Given the description of an element on the screen output the (x, y) to click on. 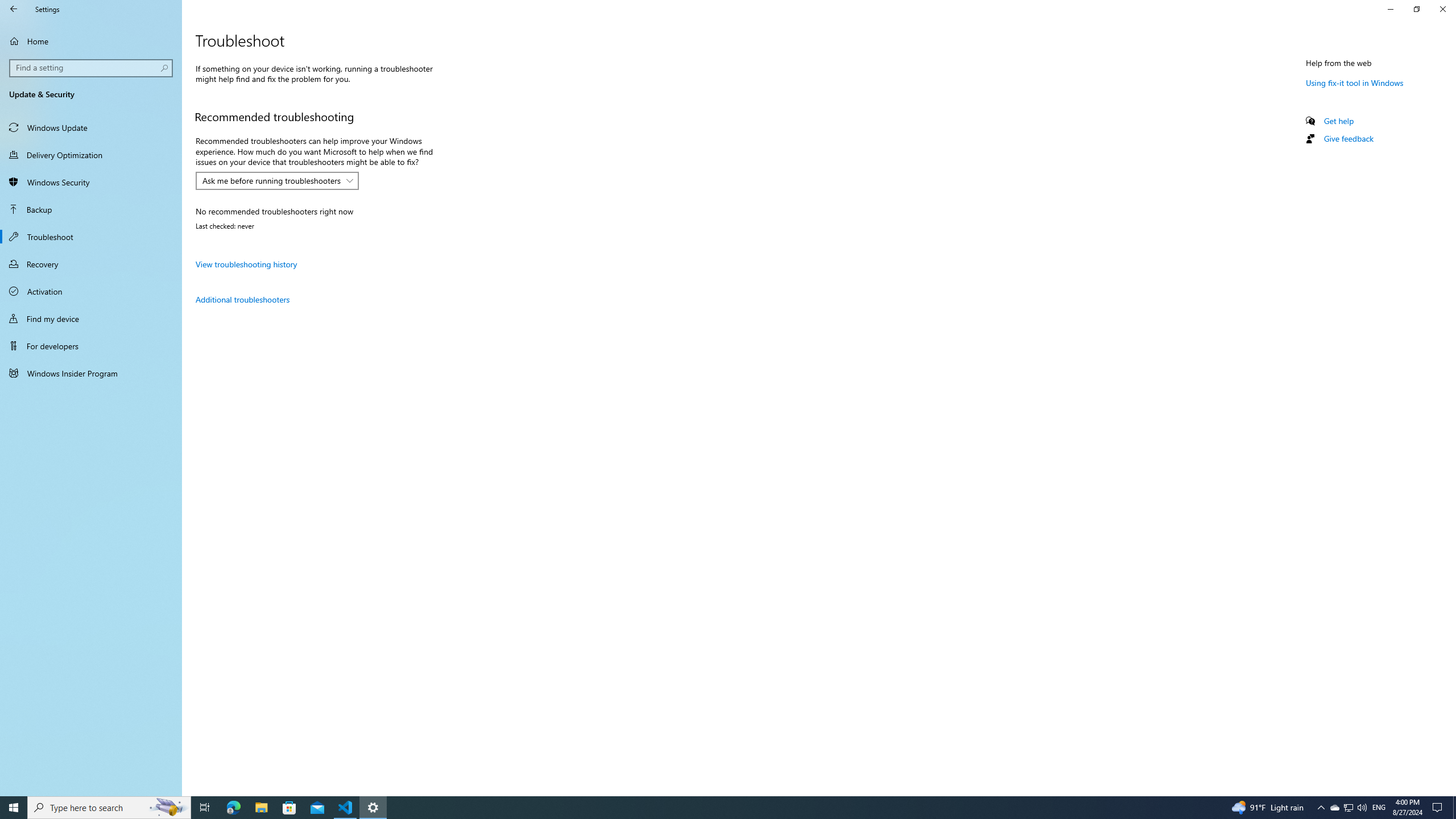
Search highlights icon opens search home window (167, 807)
Minimize Settings (1390, 9)
Back (13, 9)
Troubleshoot (91, 236)
Microsoft Edge (233, 807)
Using fix-it tool in Windows (1354, 82)
Find my device (91, 318)
Show desktop (1454, 807)
Action Center, No new notifications (1439, 807)
Microsoft Store (289, 807)
Restore Settings (1416, 9)
